Given the description of an element on the screen output the (x, y) to click on. 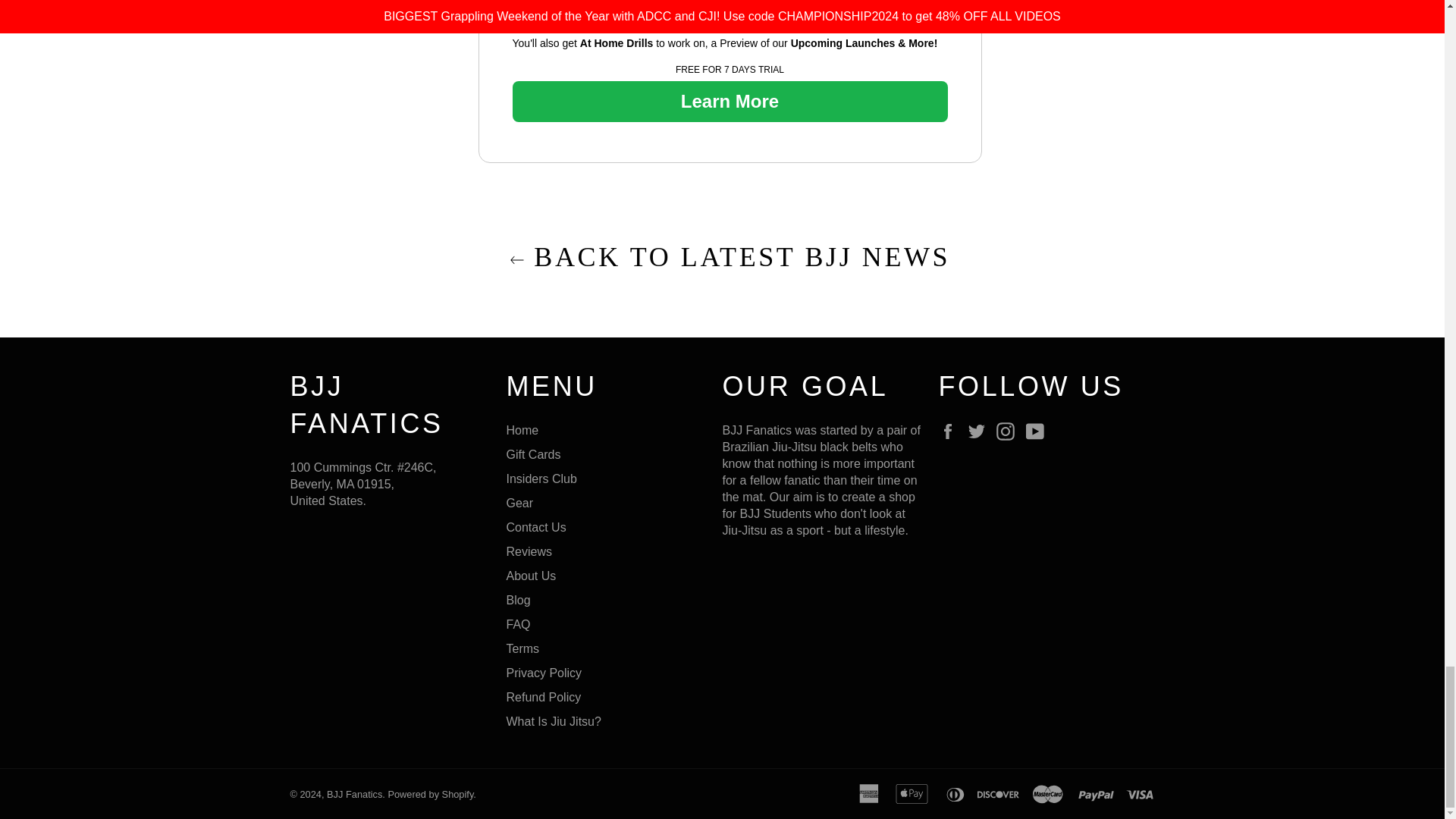
BJJ Fanatics on YouTube (1038, 431)
BJJ Fanatics on Facebook (951, 431)
BJJ Fanatics on Twitter (980, 431)
BJJ Fanatics on Instagram (1008, 431)
